Given the description of an element on the screen output the (x, y) to click on. 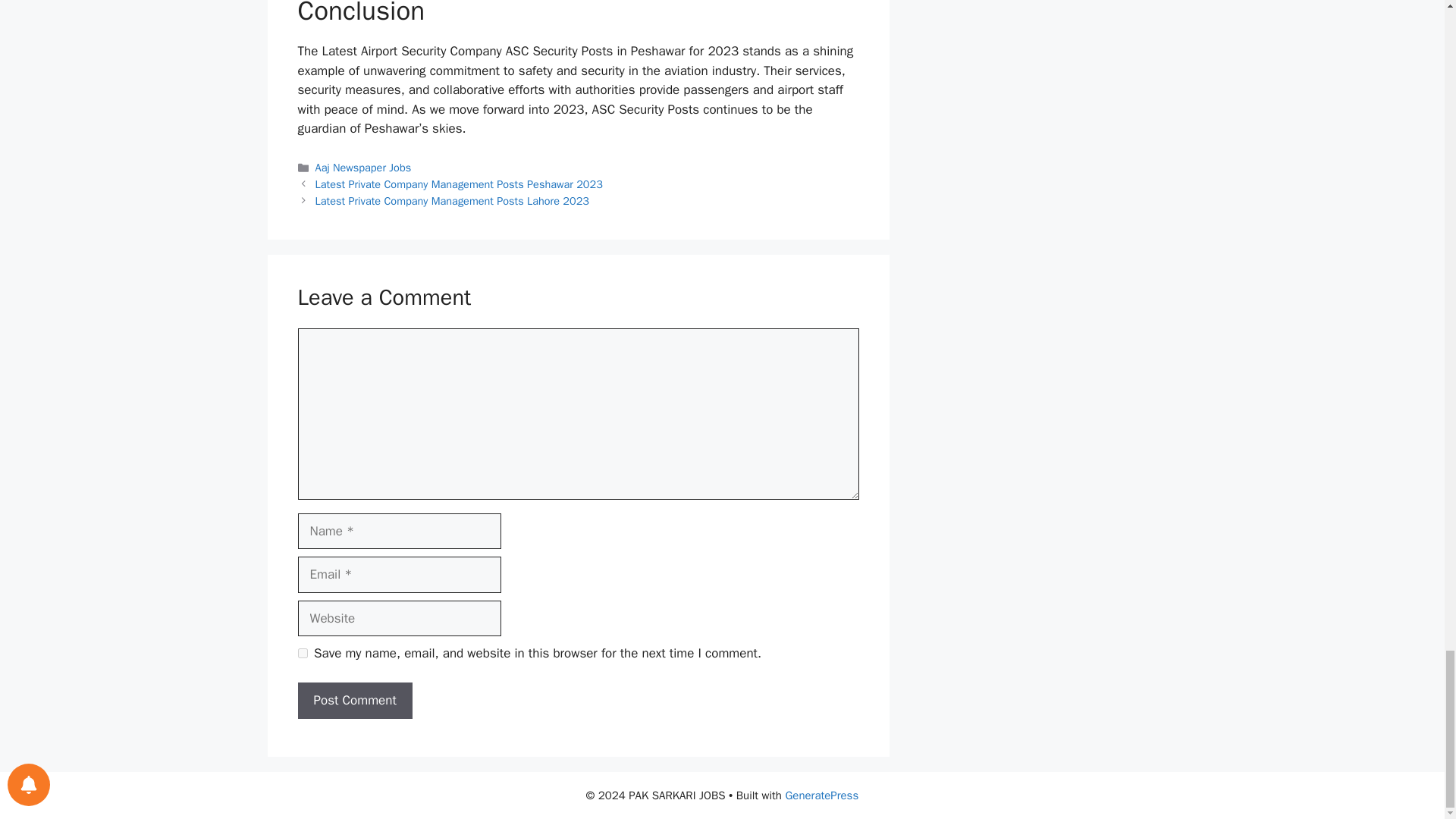
Post Comment (354, 700)
yes (302, 653)
Latest Private Company Management Posts Lahore 2023 (452, 201)
GeneratePress (821, 795)
Latest Private Company Management Posts Peshawar 2023 (458, 183)
Aaj Newspaper Jobs (363, 167)
Post Comment (354, 700)
